Given the description of an element on the screen output the (x, y) to click on. 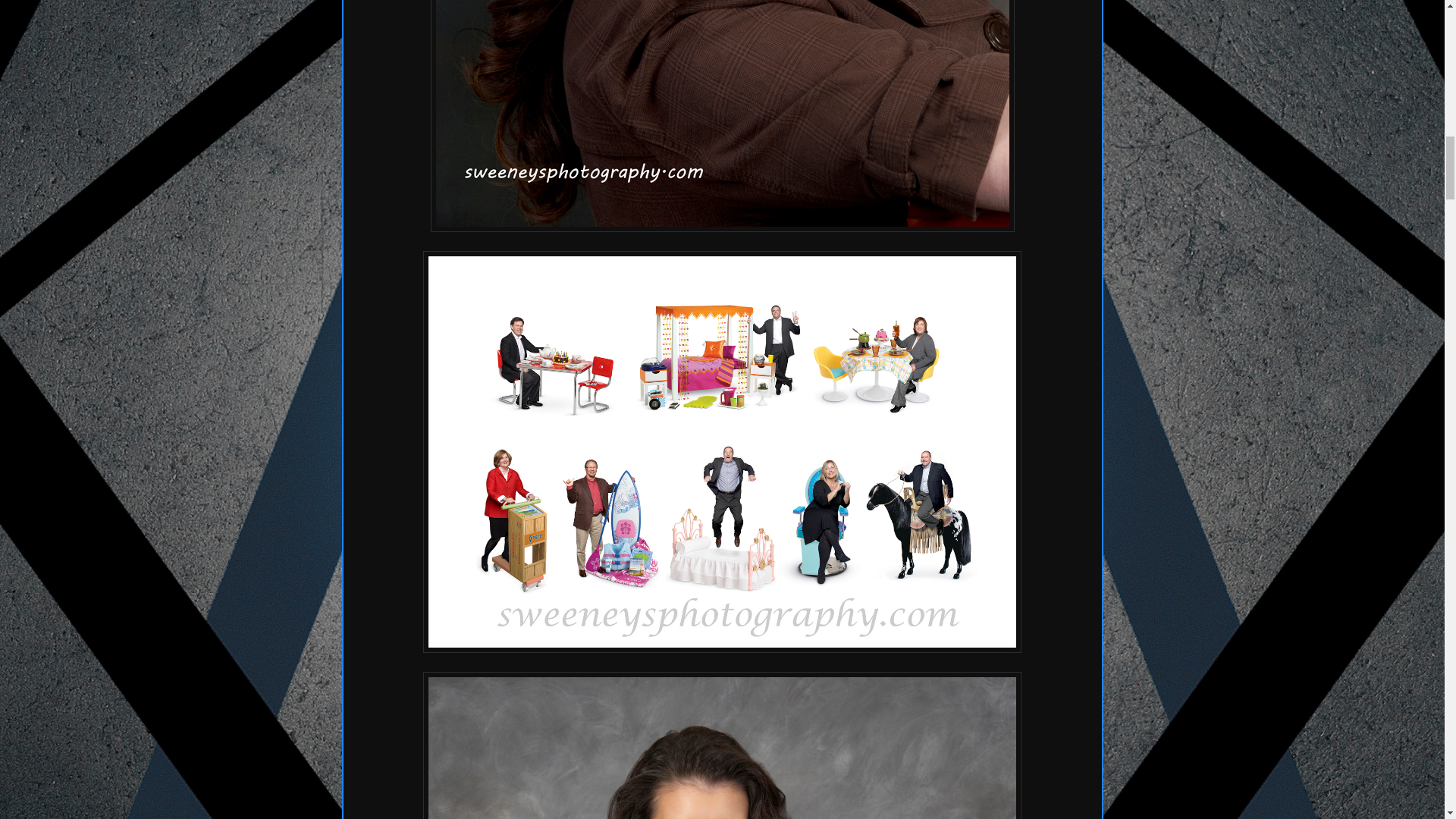
Photographer in Madison WI (722, 745)
